Given the description of an element on the screen output the (x, y) to click on. 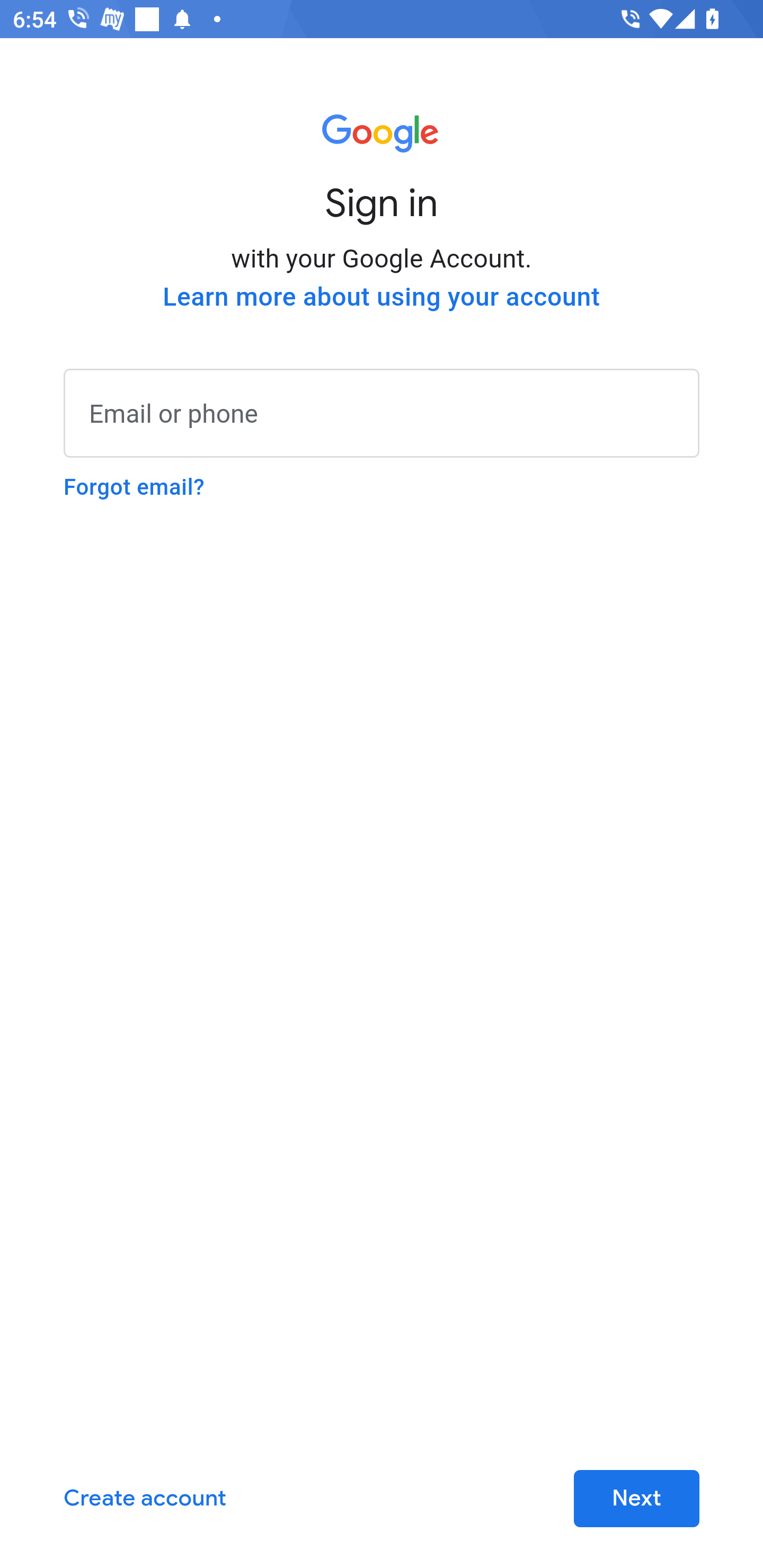
Learn more about using your account (381, 296)
Forgot email? (133, 486)
Create account (145, 1498)
Next (635, 1498)
